Given the description of an element on the screen output the (x, y) to click on. 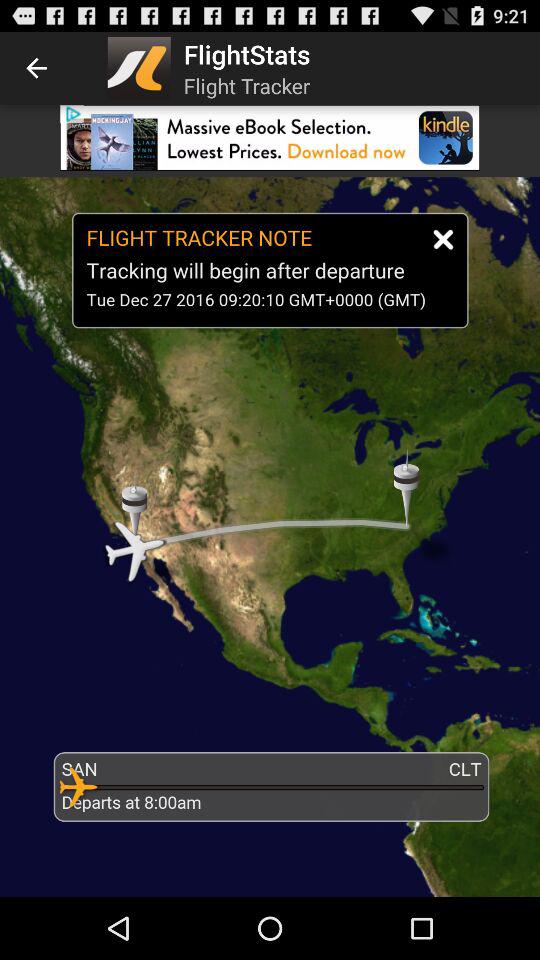
download app (270, 137)
